Given the description of an element on the screen output the (x, y) to click on. 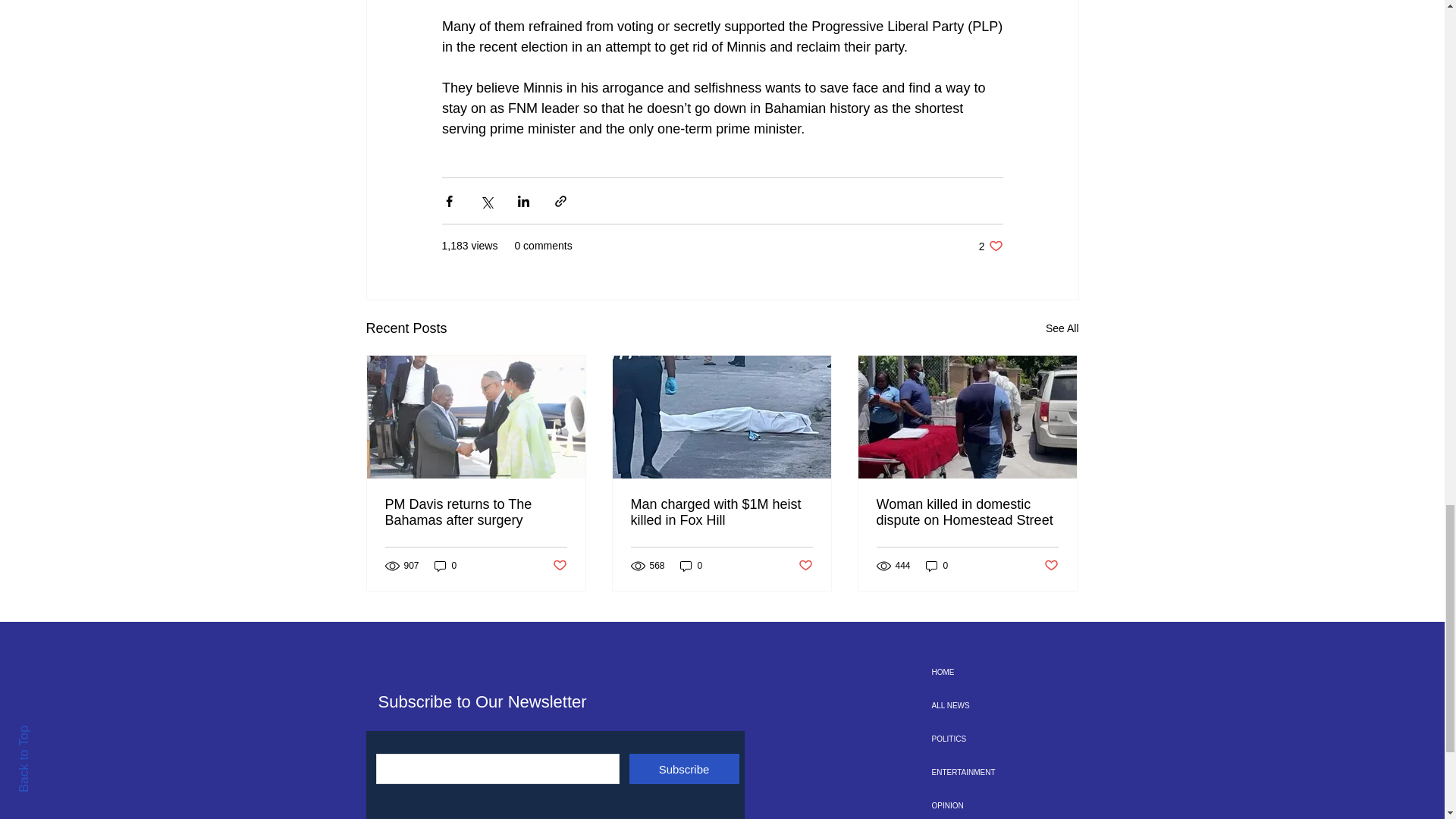
Post not marked as liked (558, 565)
Post not marked as liked (804, 565)
Woman killed in domestic dispute on Homestead Street (967, 512)
PM Davis returns to The Bahamas after surgery (476, 512)
Post not marked as liked (1050, 565)
See All (1061, 328)
0 (937, 564)
0 (990, 246)
0 (445, 564)
